Given the description of an element on the screen output the (x, y) to click on. 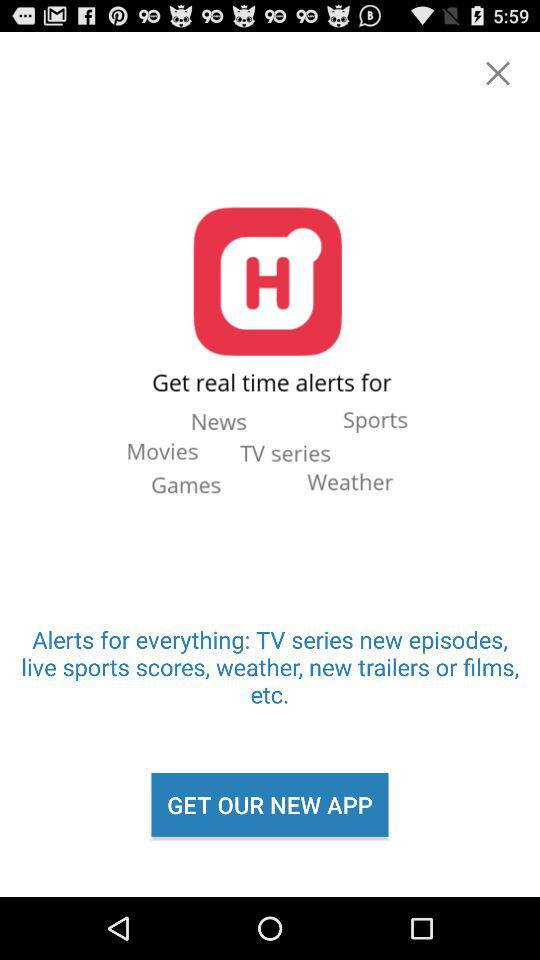
press the get our new item (269, 804)
